Given the description of an element on the screen output the (x, y) to click on. 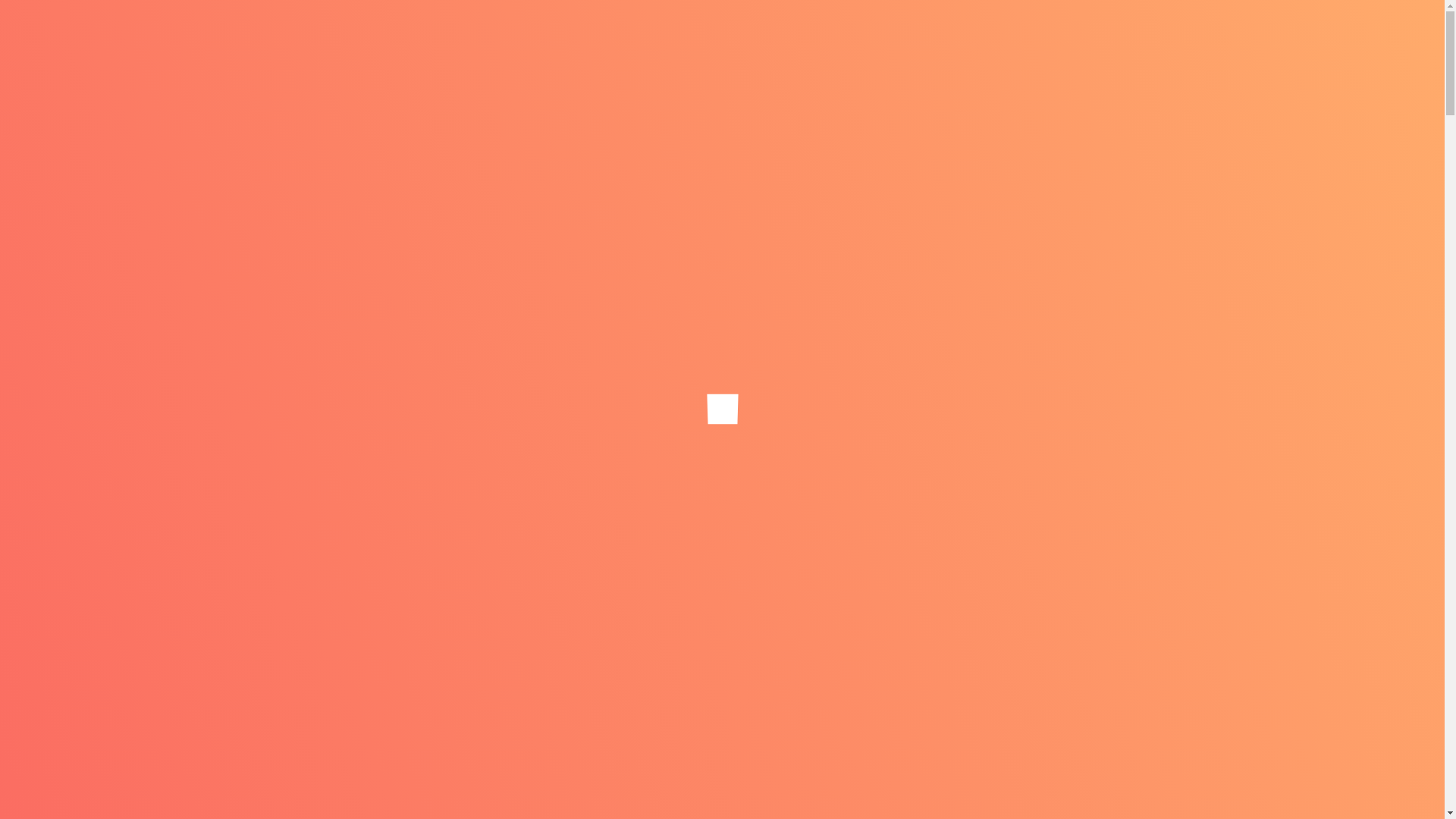
+8801616381212 Element type: text (1048, 9)
SERVICES Element type: text (785, 62)
HOSTING Element type: text (572, 62)
OUR SOFTWARE Element type: text (890, 62)
VPS & DEDICATED Element type: text (678, 62)
Search... Element type: text (1073, 559)
OFFERS Element type: text (1080, 62)
DOMAIN Element type: text (488, 62)
HOME Element type: text (413, 62)
CONTACTS Element type: text (1167, 62)
SOLUTION Element type: text (995, 62)
